Given the description of an element on the screen output the (x, y) to click on. 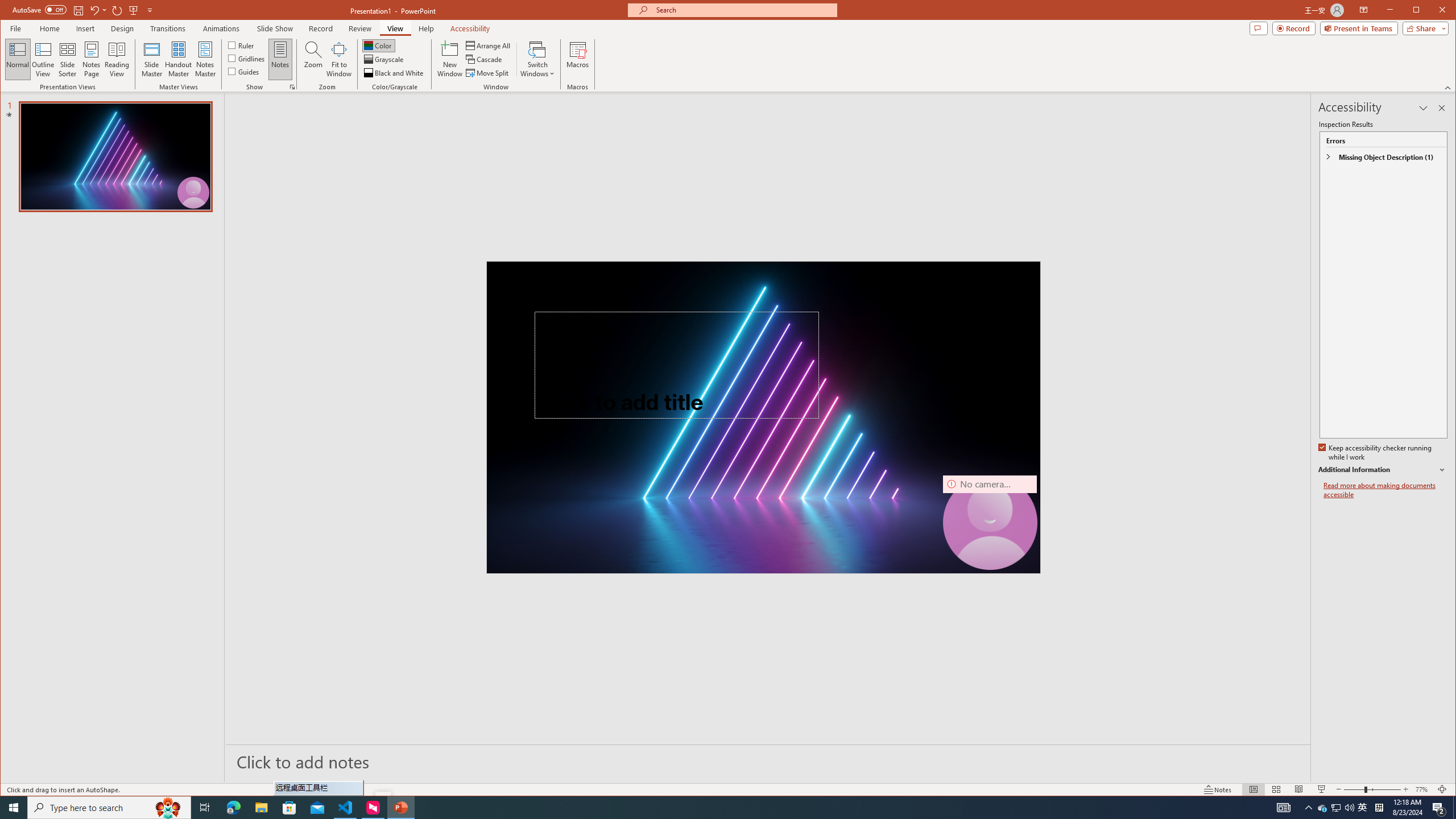
Ruler (241, 44)
New Window (450, 59)
Handout Master (178, 59)
